Given the description of an element on the screen output the (x, y) to click on. 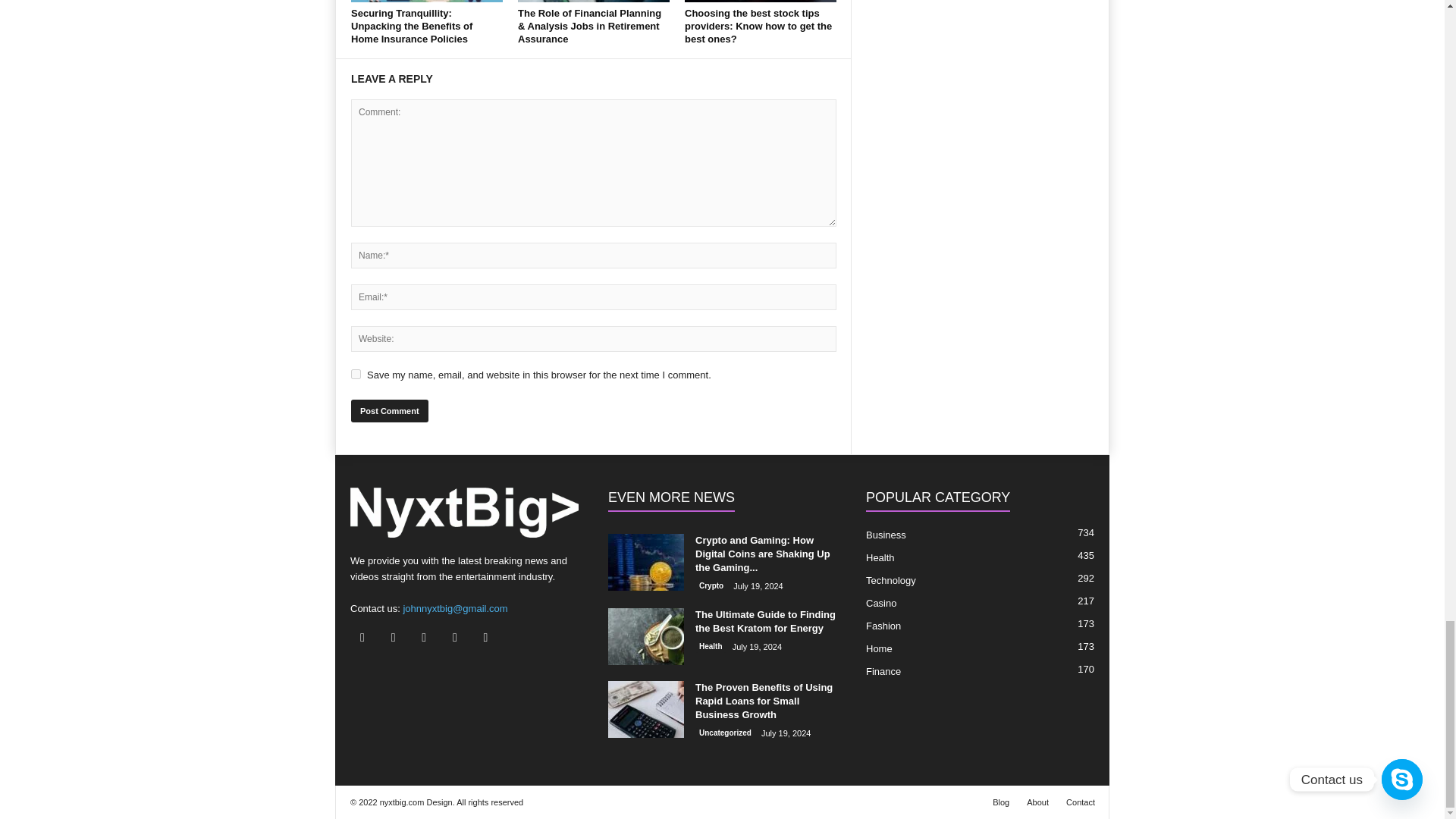
yes (355, 374)
Post Comment (389, 410)
